Given the description of an element on the screen output the (x, y) to click on. 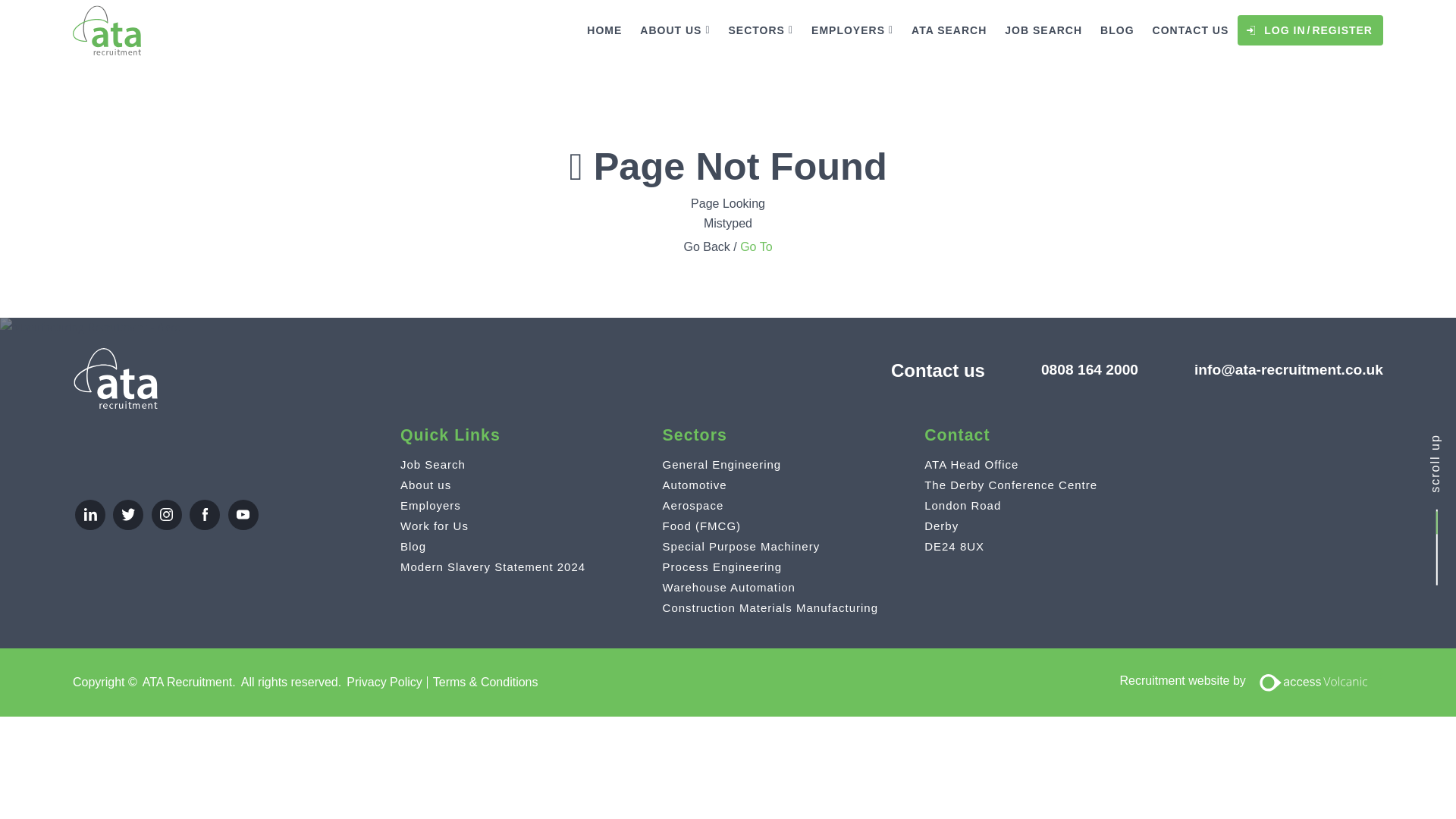
REGISTER (1342, 29)
ATA SEARCH (948, 30)
HOME (604, 30)
Go to the Homepage (106, 29)
EMPLOYERS (852, 30)
LOG IN (1284, 29)
Go to the Homepage (115, 377)
CONTACT US (1190, 30)
SECTORS (761, 30)
JOB SEARCH (1042, 30)
BLOG (1116, 30)
ABOUT US (674, 30)
